Given the description of an element on the screen output the (x, y) to click on. 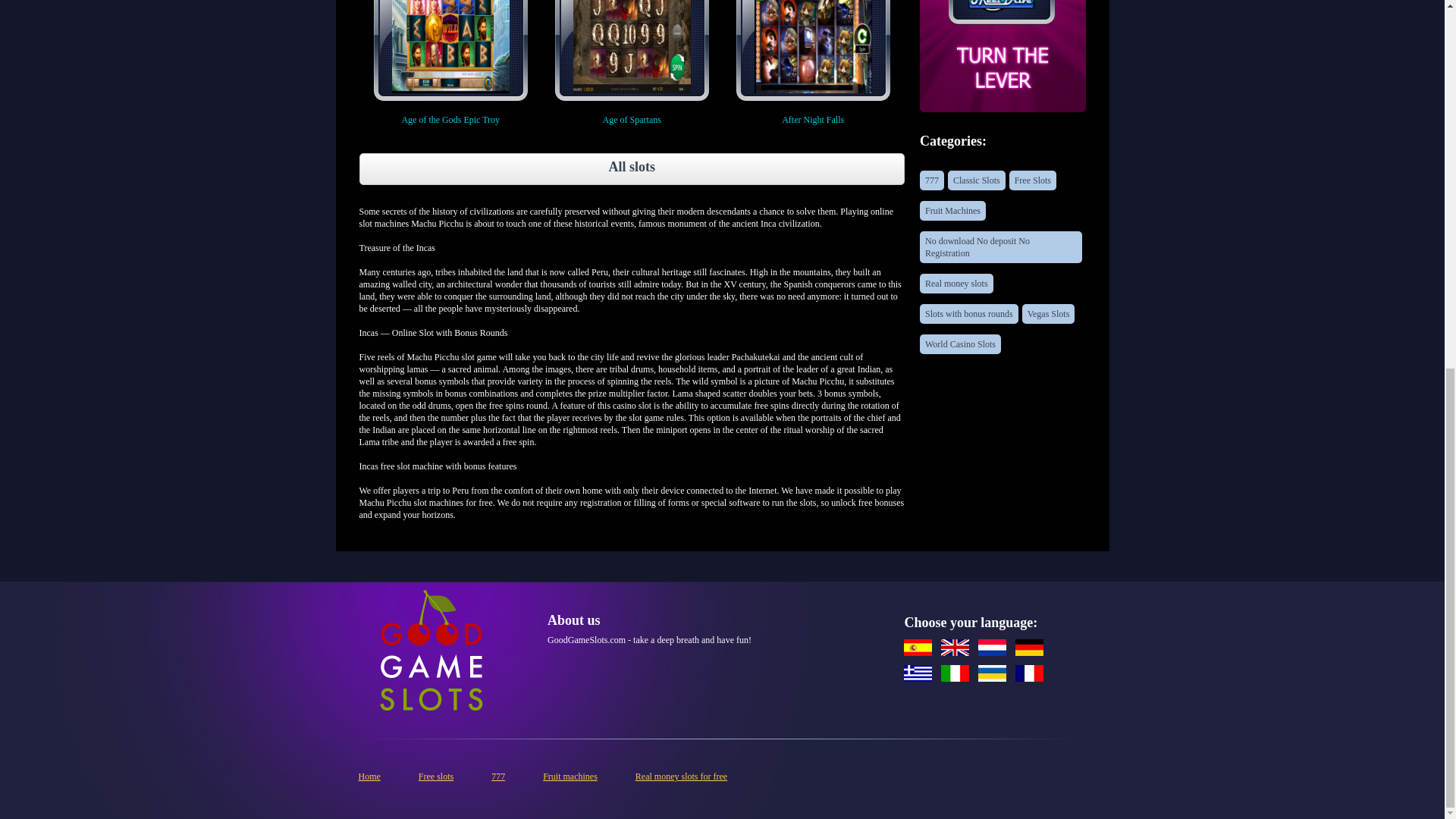
Free Slots (1033, 180)
Slots with bonus rounds (968, 313)
World Casino Slots (960, 343)
Fruit Machines (952, 210)
No download No deposit No Registration (1000, 246)
777 (931, 180)
Classic Slots (976, 180)
Age of the Gods Epic Troy (450, 62)
After Night Falls (812, 62)
Real money slots (956, 283)
Age of Spartans (631, 62)
Vegas Slots (1048, 313)
All slots (631, 169)
